Given the description of an element on the screen output the (x, y) to click on. 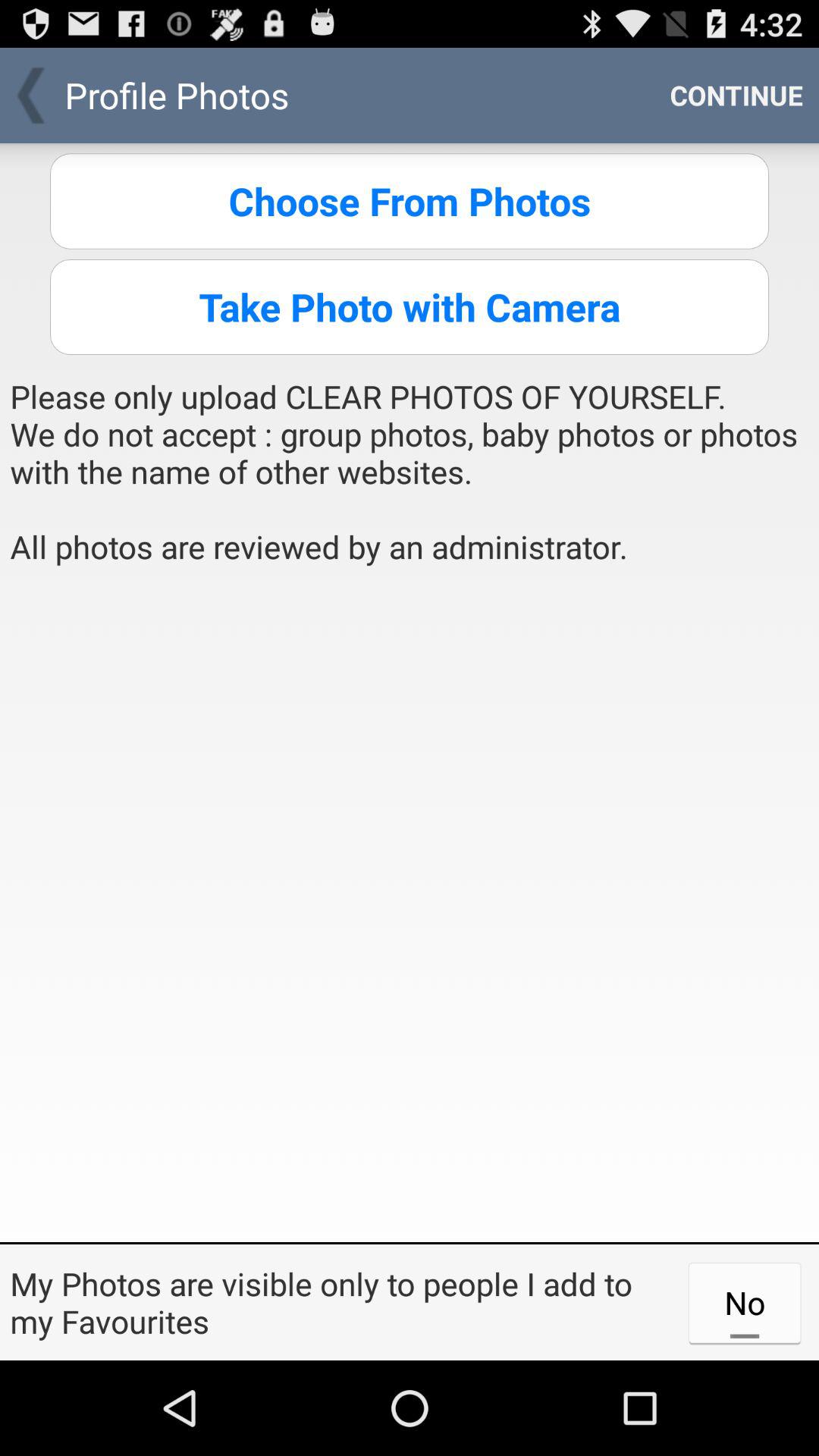
jump until the take photo with button (409, 306)
